Given the description of an element on the screen output the (x, y) to click on. 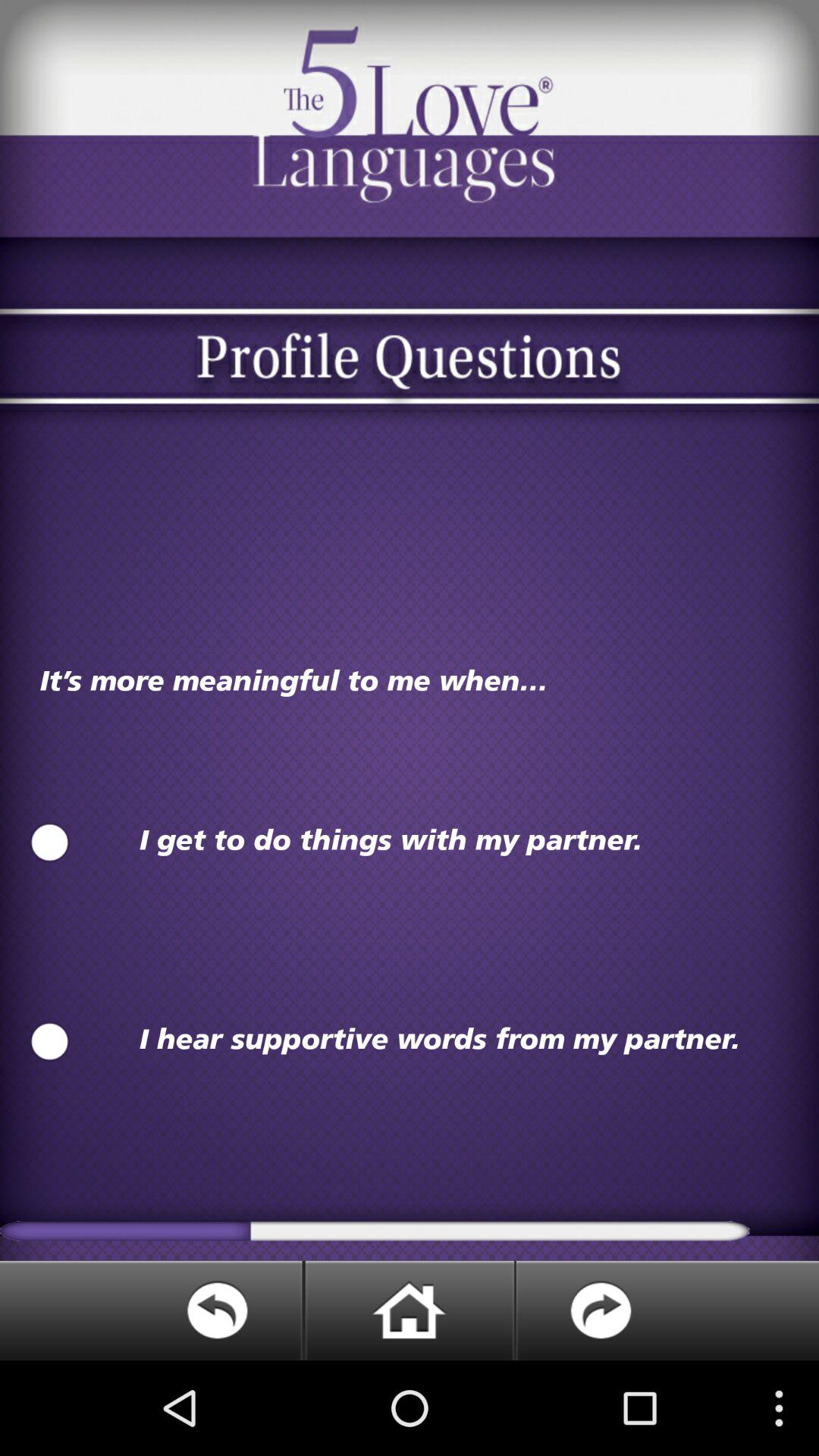
go back to previous window (151, 1310)
